Given the description of an element on the screen output the (x, y) to click on. 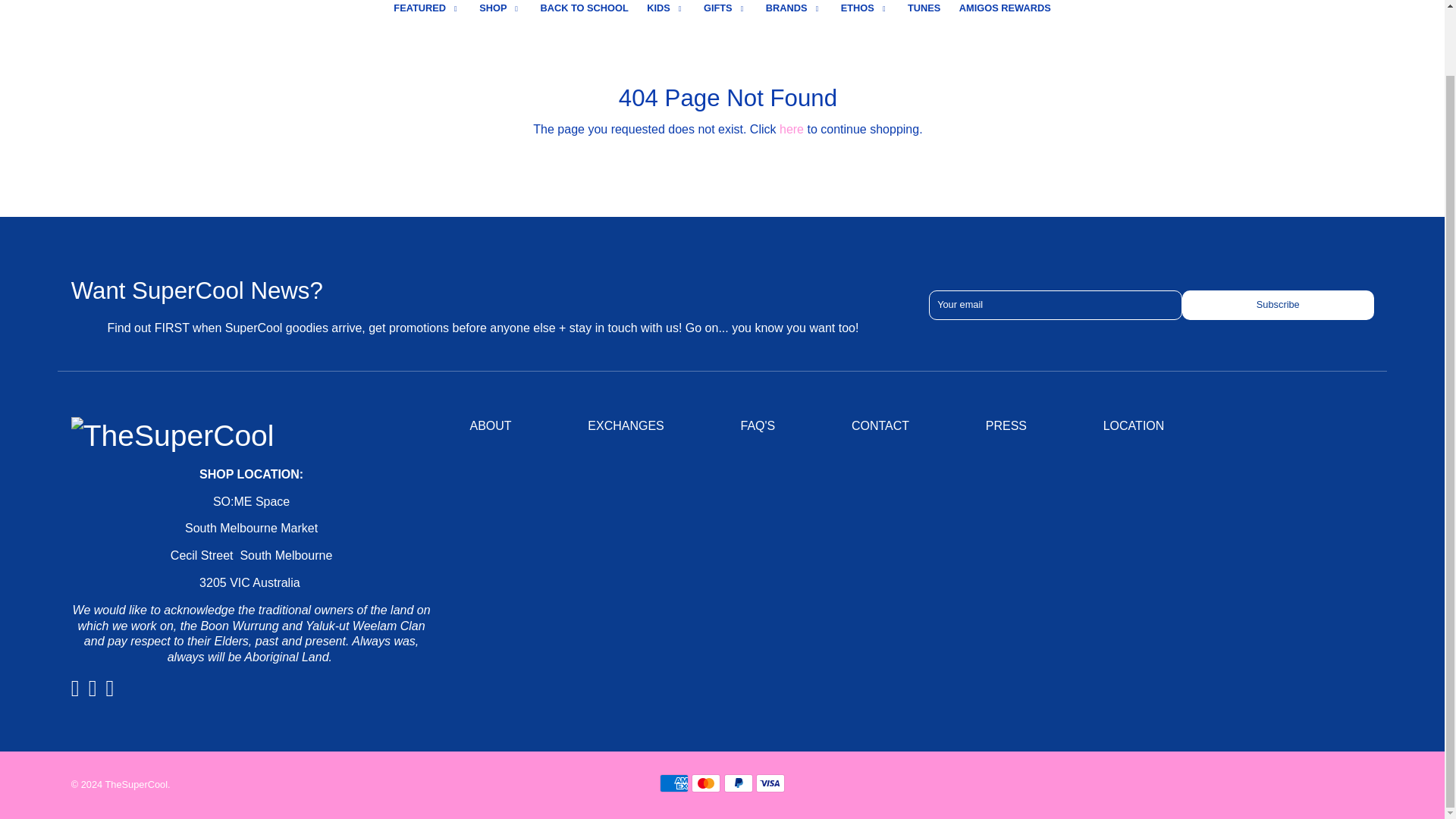
Visa (769, 783)
SHOP (500, 11)
Mastercard (705, 783)
FEATURED (426, 11)
PayPal (737, 783)
American Express (673, 783)
